Given the description of an element on the screen output the (x, y) to click on. 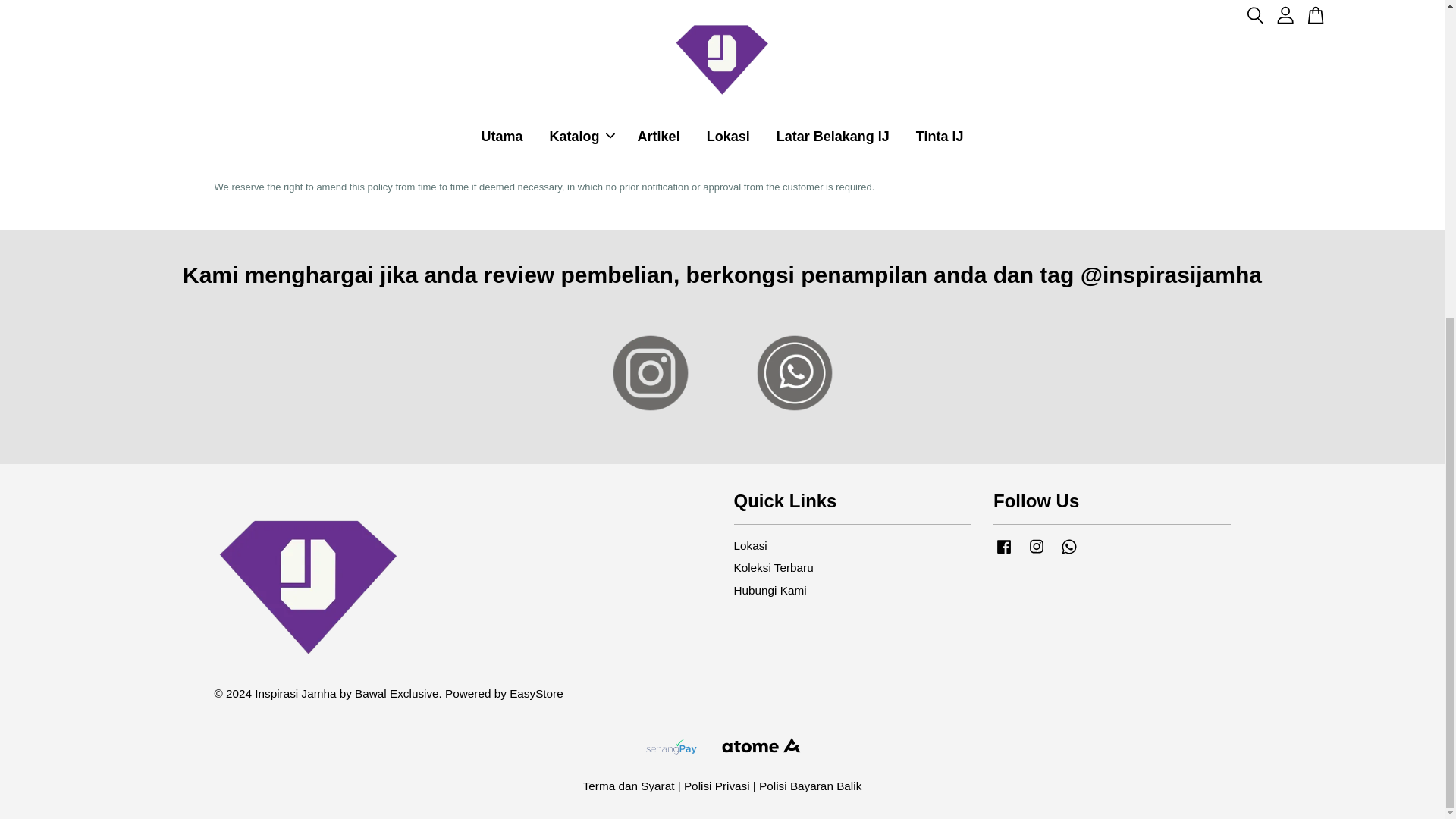
Inspirasi Jamha By Bawal Exclusive on Instagram (1036, 553)
Inspirasi Jamha By Bawal Exclusive on Whatsapp (1069, 553)
icon-whatsapp (1069, 546)
icon-facebook (1003, 546)
icon-instagram (1036, 546)
Inspirasi Jamha By Bawal Exclusive on Facebook (1003, 553)
